Given the description of an element on the screen output the (x, y) to click on. 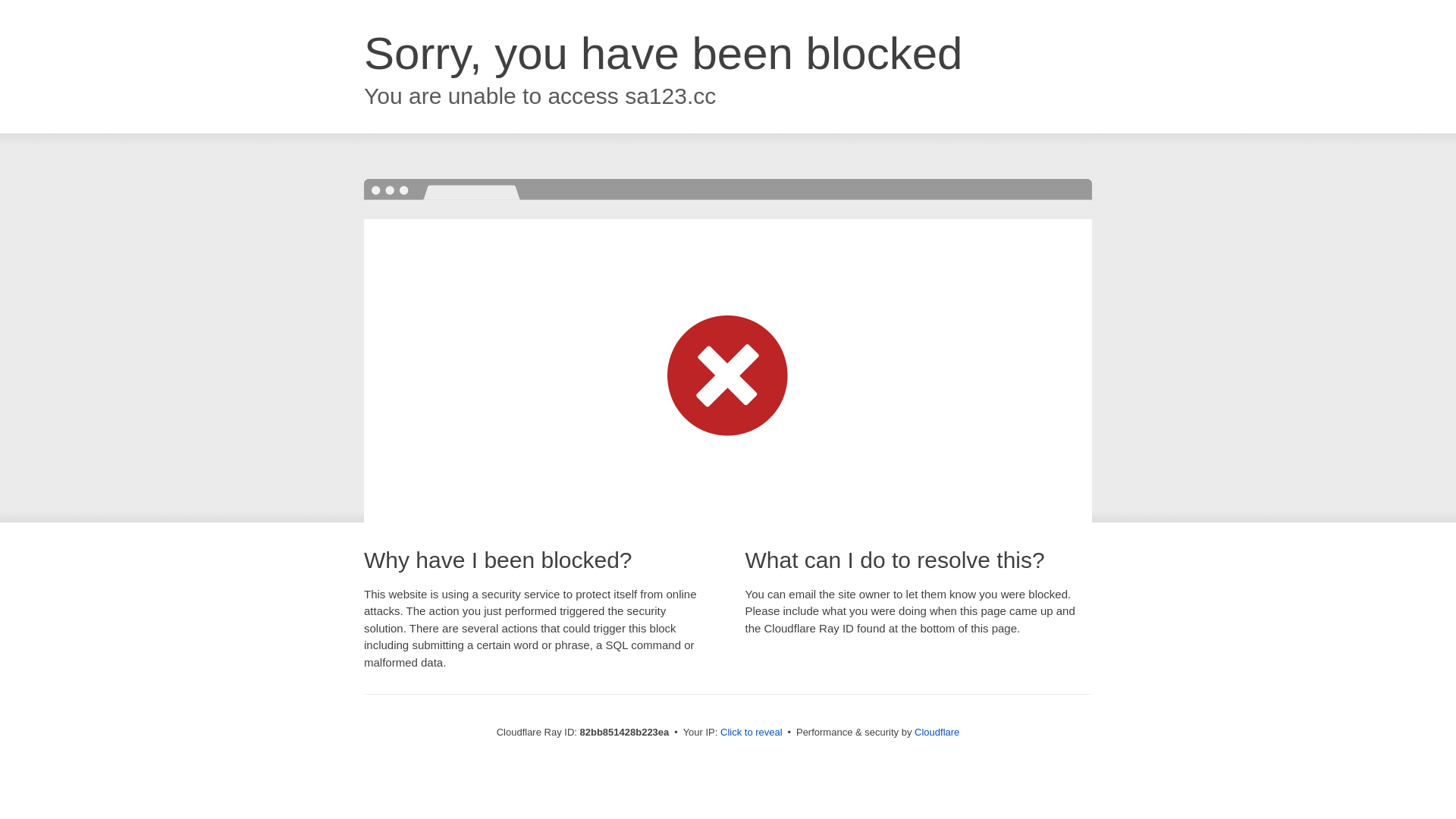
Cloudflare Element type: text (936, 731)
Click to reveal Element type: text (751, 732)
